Given the description of an element on the screen output the (x, y) to click on. 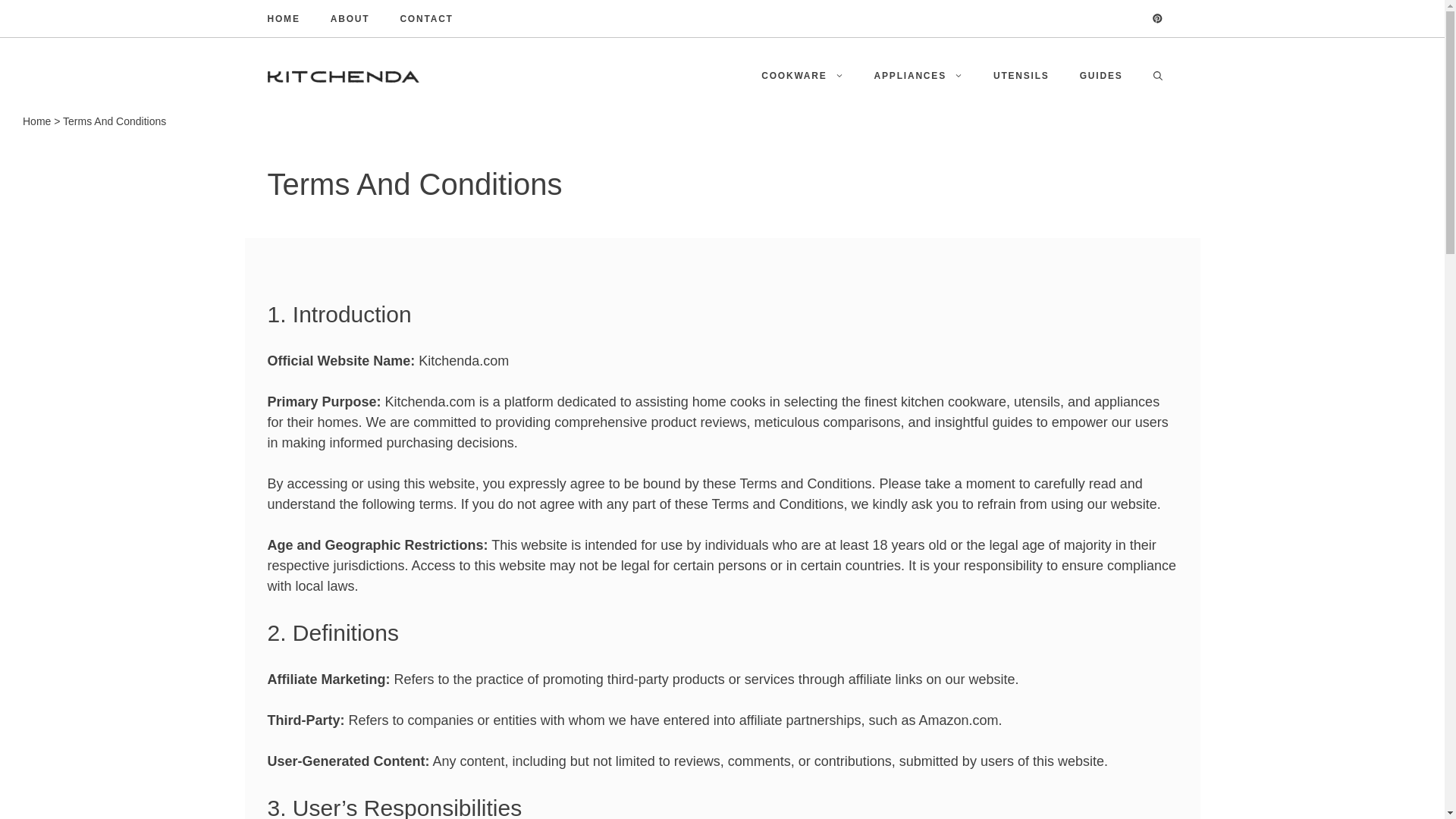
HOME (282, 18)
Home (36, 121)
CONTACT (425, 18)
APPLIANCES (918, 75)
ABOUT (349, 18)
UTENSILS (1021, 75)
COOKWARE (802, 75)
GUIDES (1101, 75)
